Given the description of an element on the screen output the (x, y) to click on. 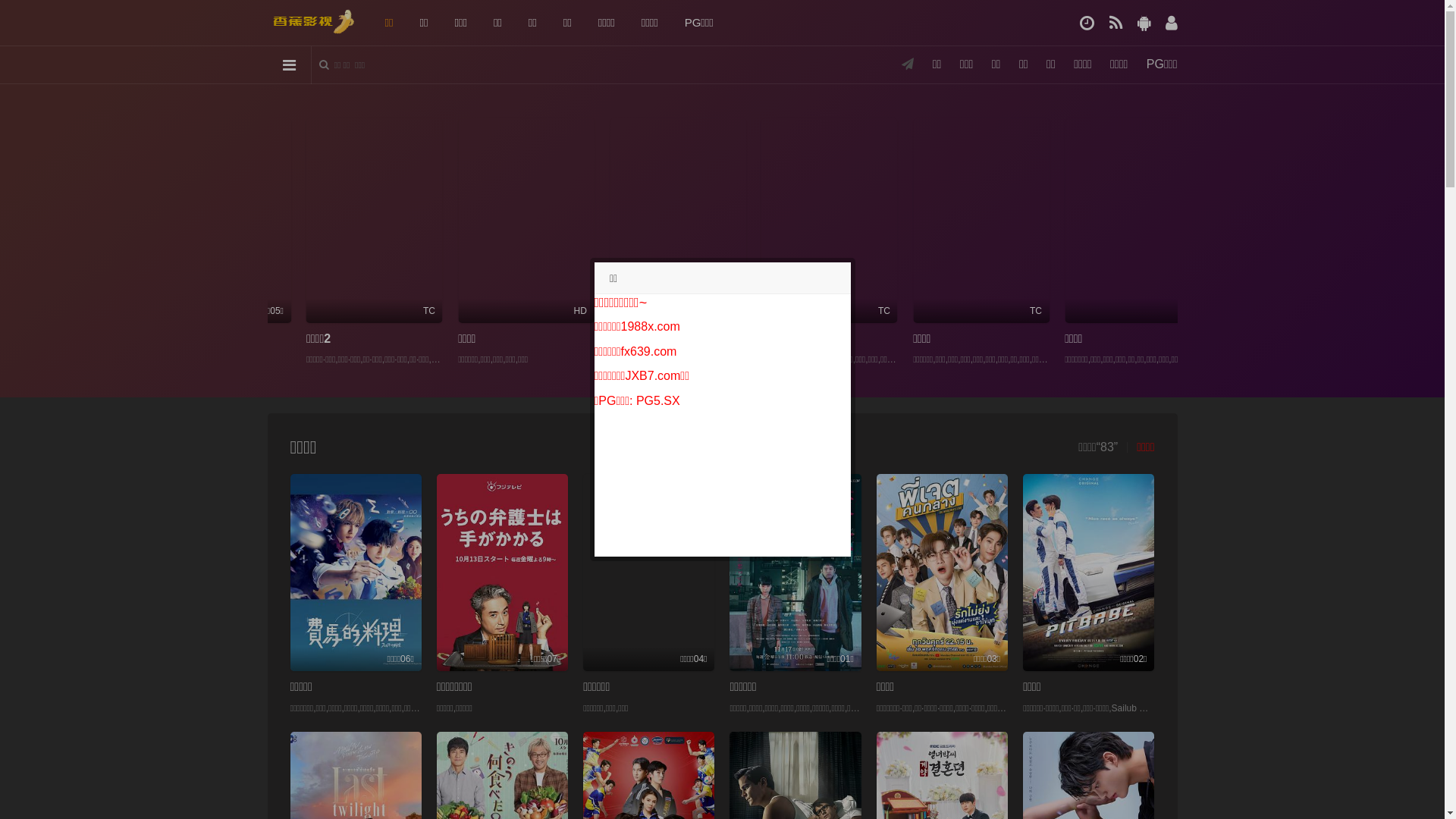
fx639.com Element type: text (649, 351)
TC Element type: text (949, 220)
1988x.com Element type: text (650, 326)
PG5.SX Element type: text (658, 400)
HD Element type: text (1100, 220)
JXB7.com Element type: text (652, 375)
